Given the description of an element on the screen output the (x, y) to click on. 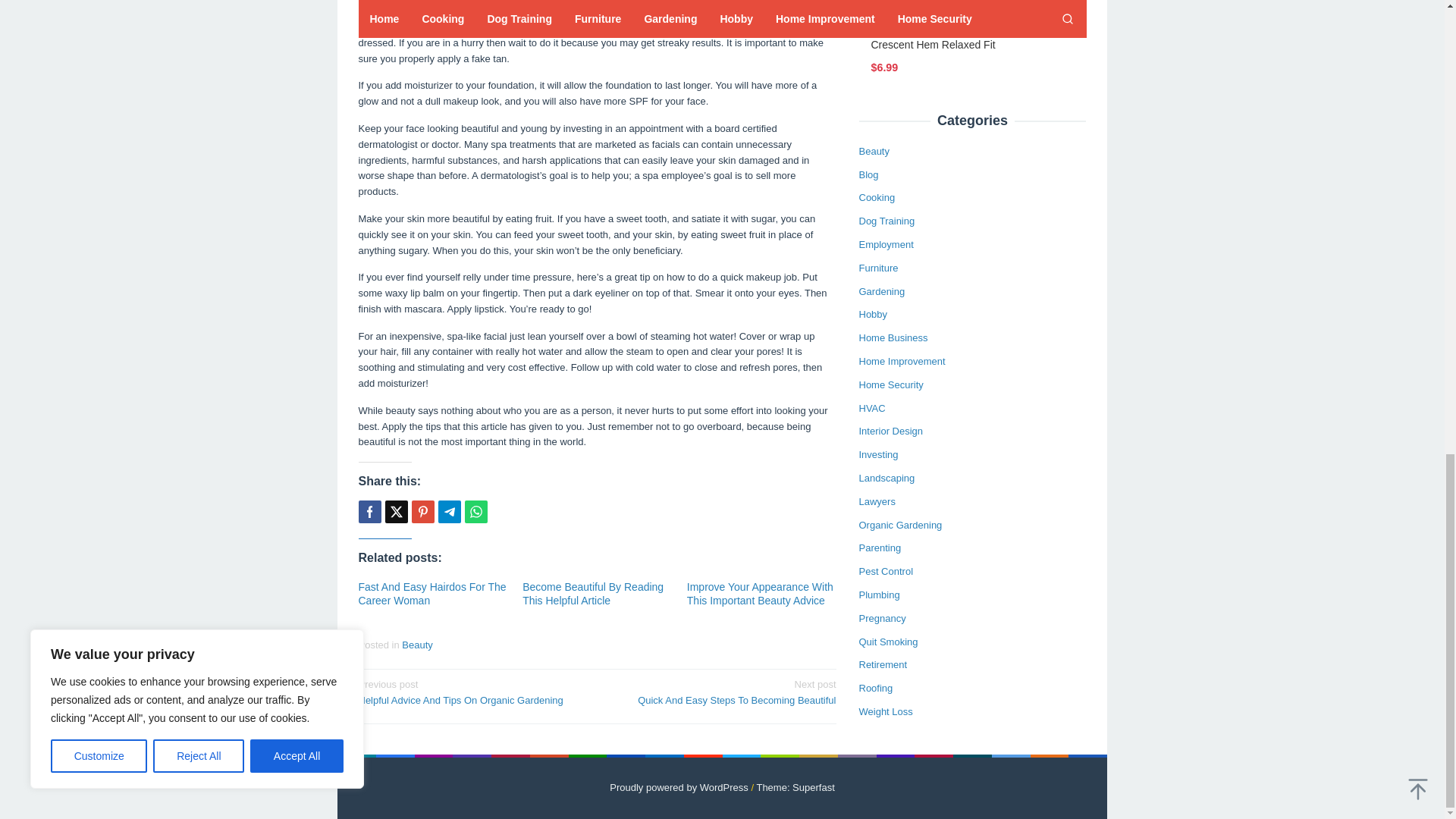
Telegram Share (449, 511)
Share this (369, 511)
Whatsapp (475, 511)
Tweet this (396, 511)
Permalink to: Fast And Easy Hairdos For The Career Woman (431, 593)
Pin this (421, 511)
